Given the description of an element on the screen output the (x, y) to click on. 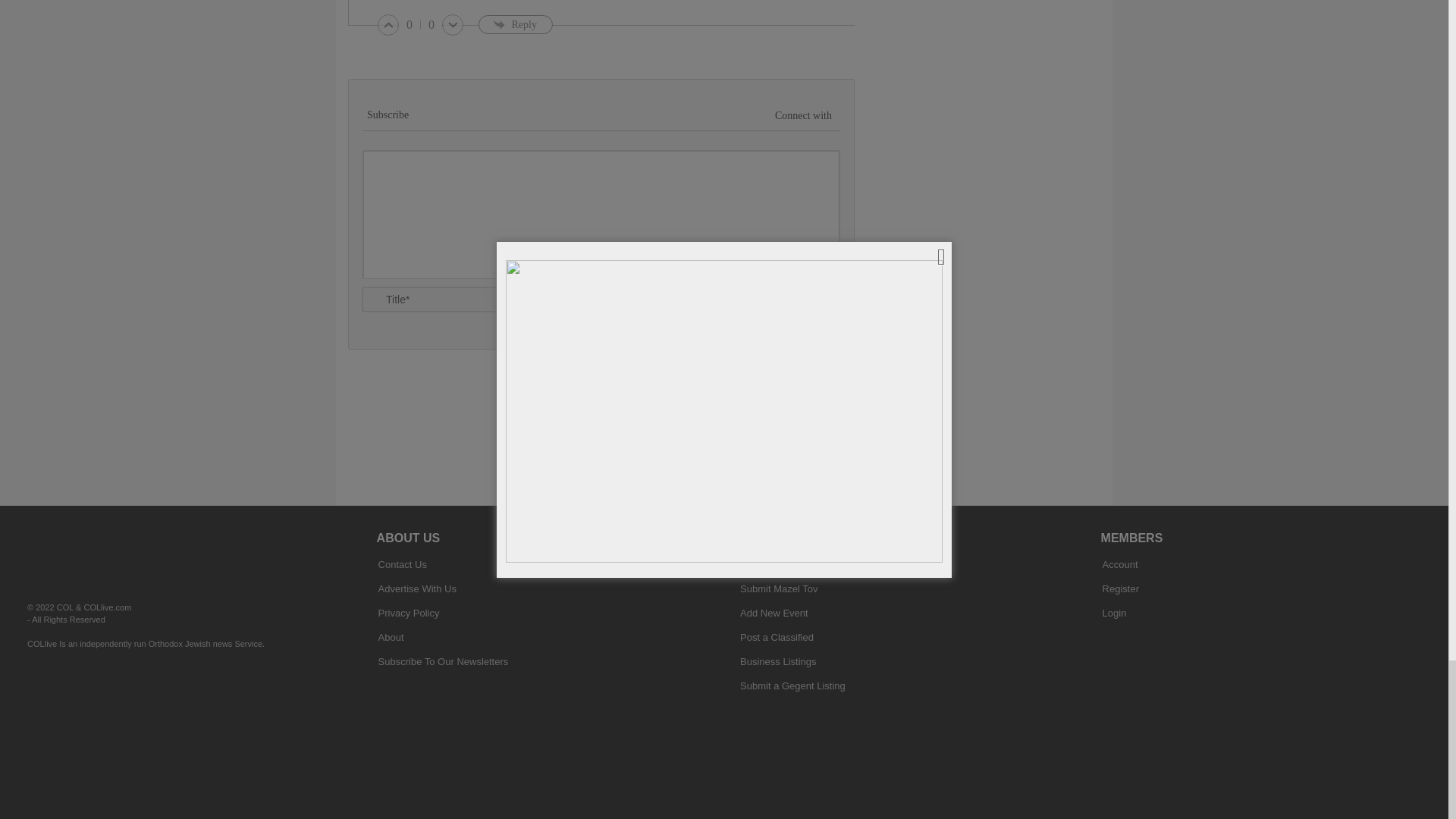
0 (409, 25)
Post Comment (783, 310)
0 (431, 25)
